Given the description of an element on the screen output the (x, y) to click on. 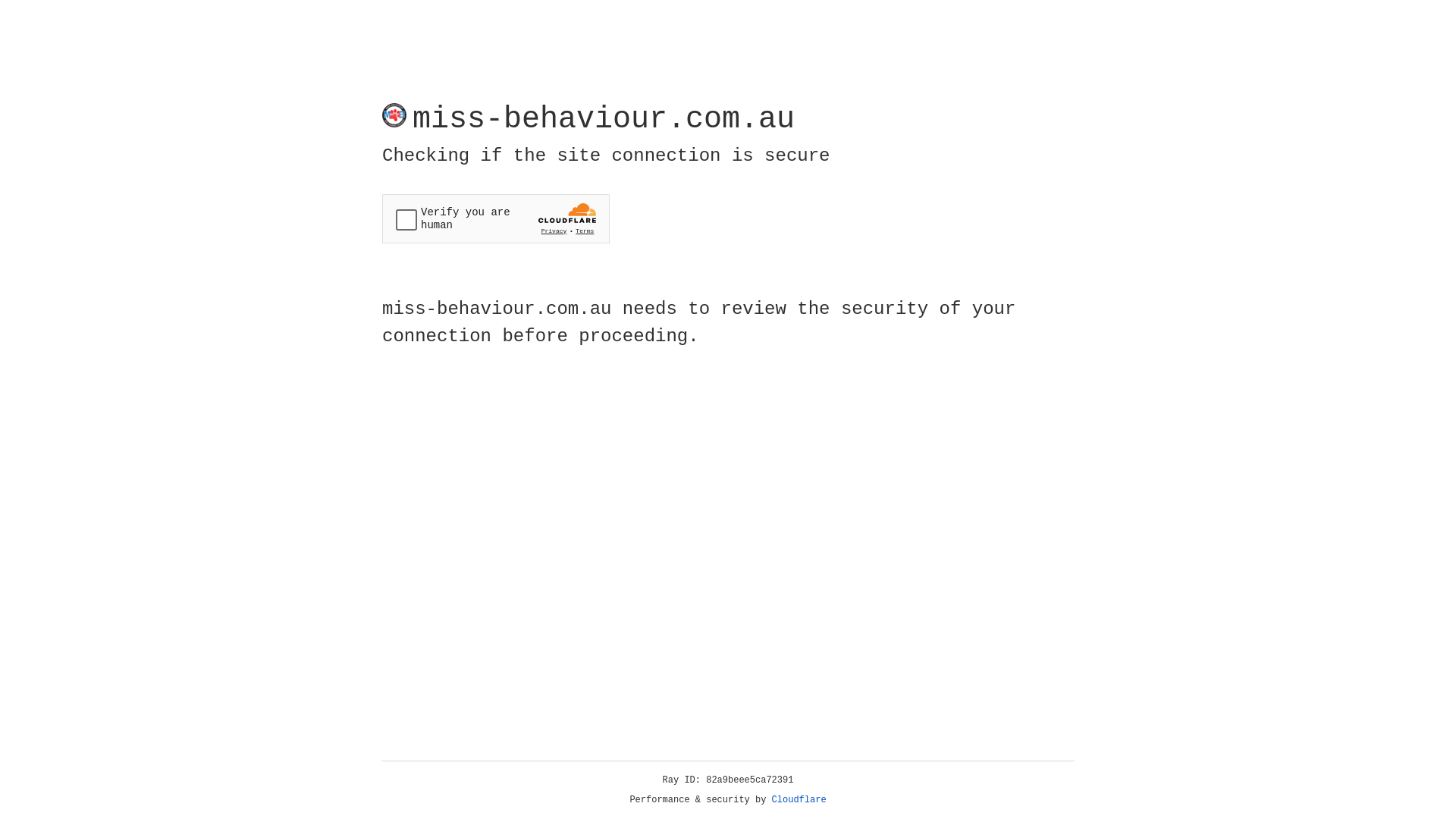
Cloudflare Element type: text (798, 799)
Widget containing a Cloudflare security challenge Element type: hover (495, 218)
